Given the description of an element on the screen output the (x, y) to click on. 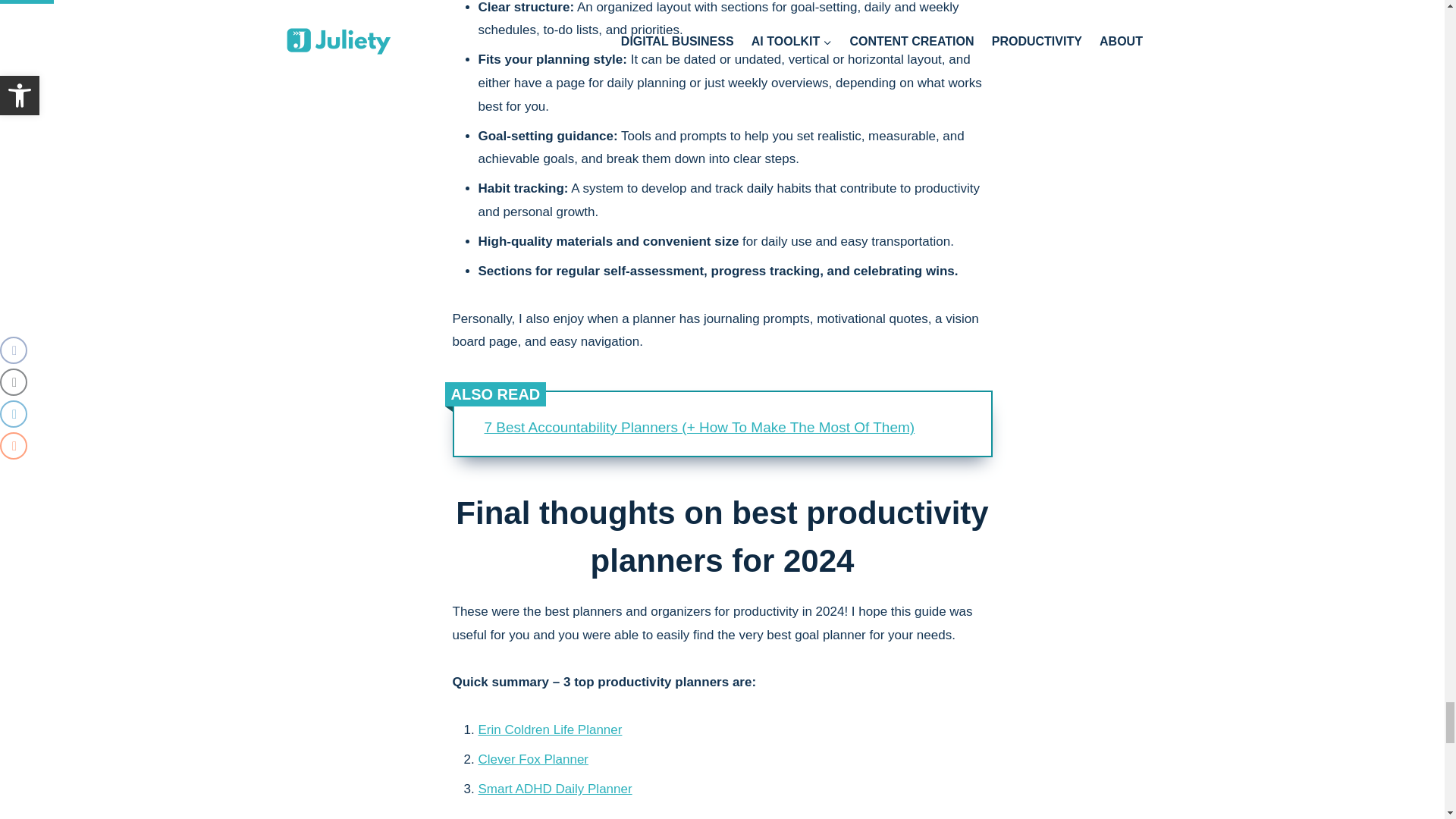
Erin Coldren LifePlanner (549, 729)
